Given the description of an element on the screen output the (x, y) to click on. 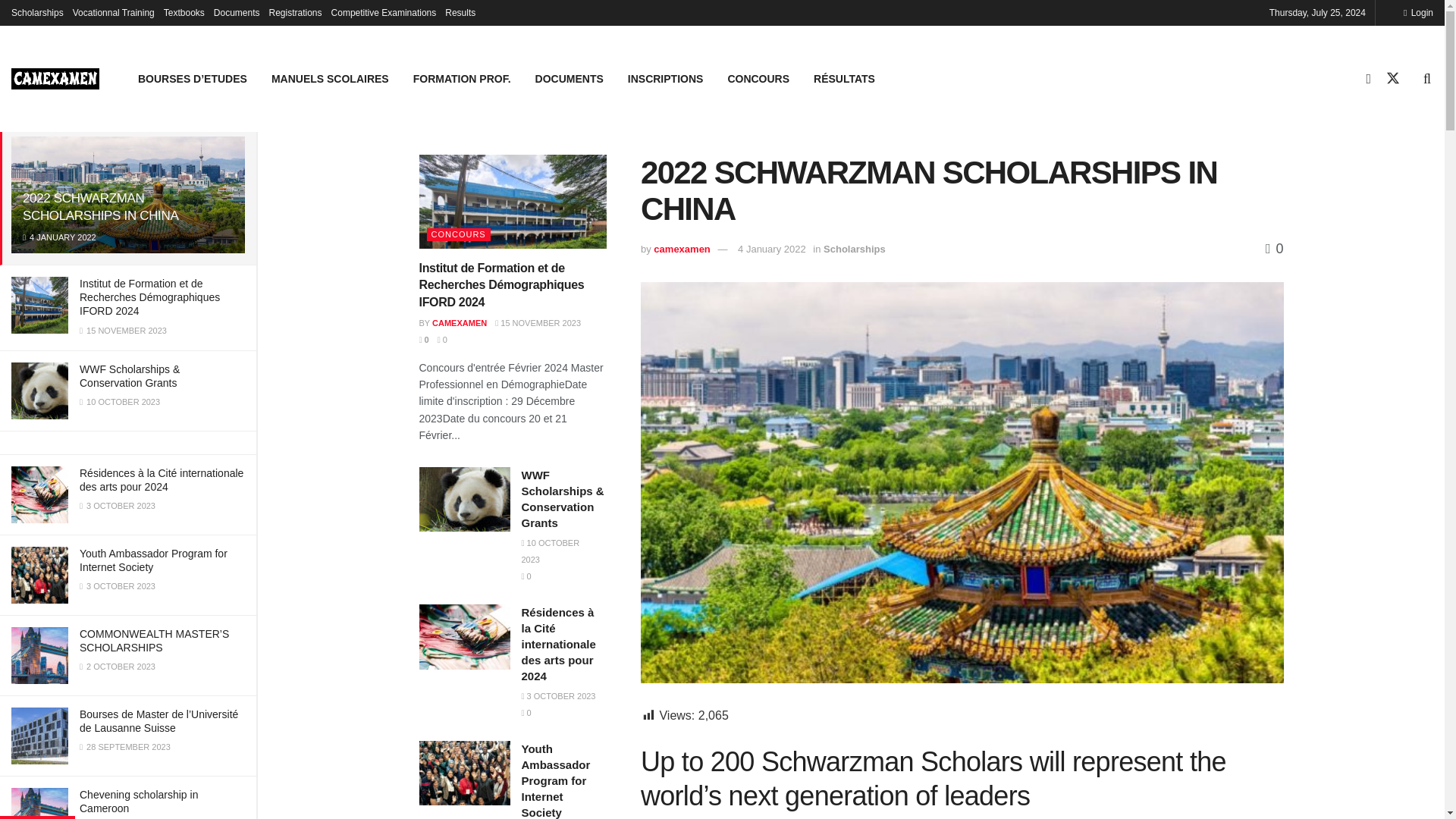
Results (460, 12)
Registrations (295, 12)
2022 SCHWARZMAN SCHOLARSHIPS IN CHINA (100, 206)
Textbooks (184, 12)
Login (1417, 12)
Vocationnal Training (113, 12)
Filter (227, 109)
Chevening scholarship in Cameroon (139, 801)
CONCOURS (758, 78)
Youth Ambassador Program for Internet Society (153, 560)
DOCUMENTS (568, 78)
Documents (237, 12)
FORMATION PROF. (461, 78)
Scholarships (37, 12)
Competitive Examinations (383, 12)
